Given the description of an element on the screen output the (x, y) to click on. 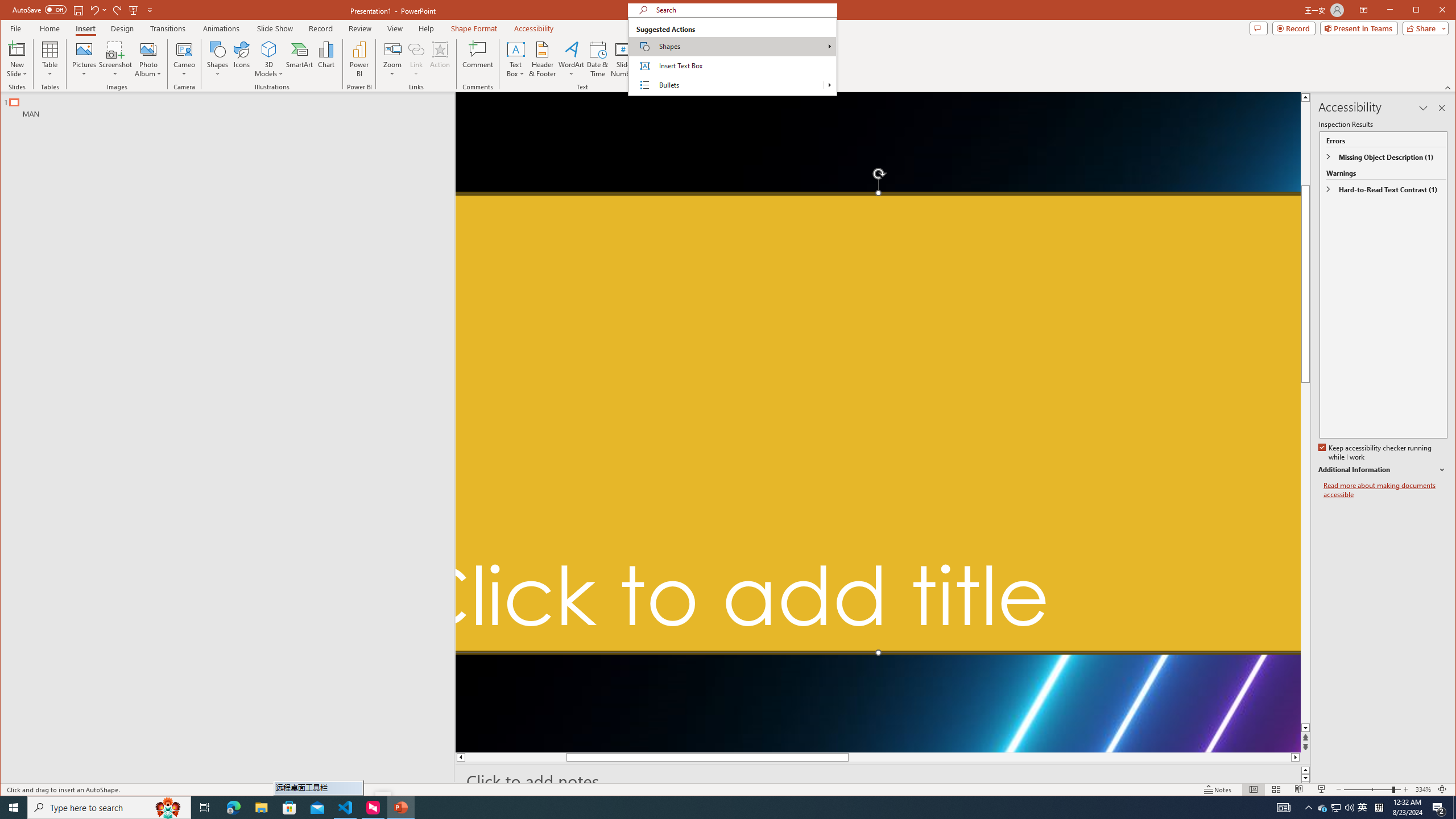
Action Center, 2 new notifications (1322, 807)
3D Models (1439, 807)
Running applications (269, 48)
Microsoft Edge (700, 807)
Equation (233, 807)
